Given the description of an element on the screen output the (x, y) to click on. 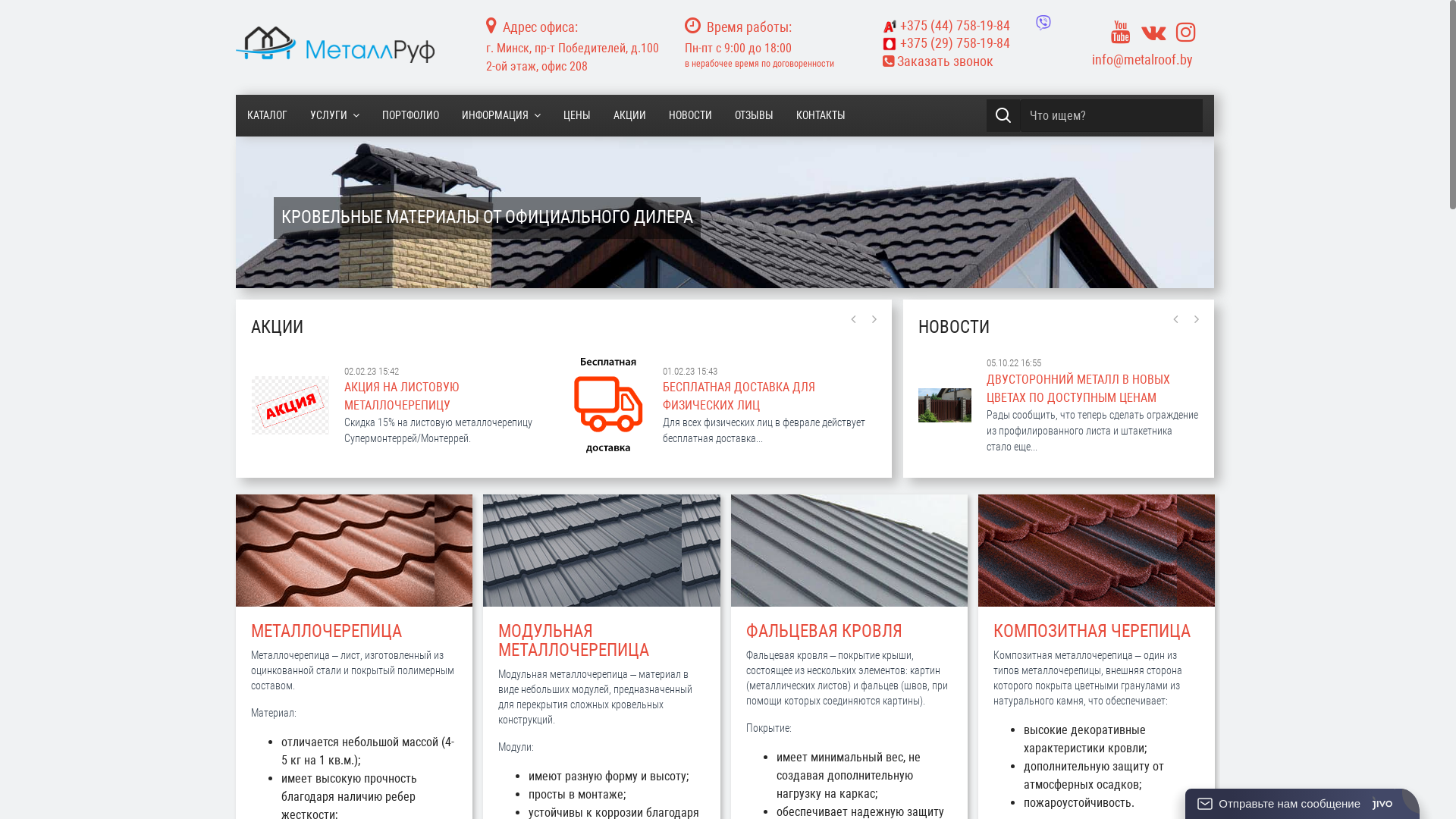
+375 (29) 758-19-84 Element type: text (970, 42)
info@metalroof.by Element type: text (1142, 59)
+375 (44) 758-19-84 Element type: text (946, 25)
